Given the description of an element on the screen output the (x, y) to click on. 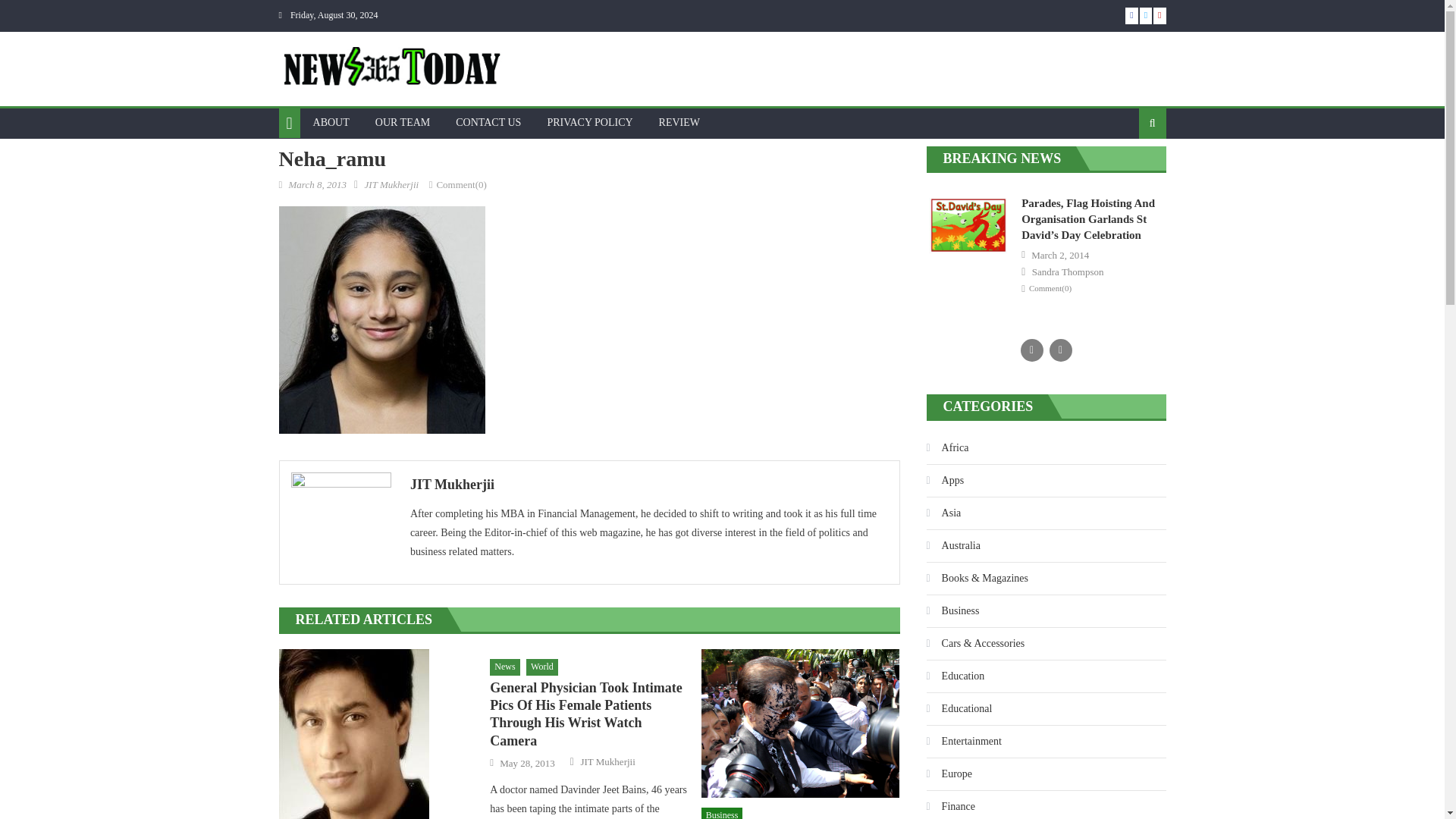
Skip to content (32, 9)
News (504, 667)
March 8, 2013 (317, 184)
ABOUT (331, 122)
JIT Mukherjii (606, 762)
May 28, 2013 (526, 763)
JIT Mukherjii (392, 184)
Business (721, 813)
OUR TEAM (402, 122)
Search (1128, 171)
